Given the description of an element on the screen output the (x, y) to click on. 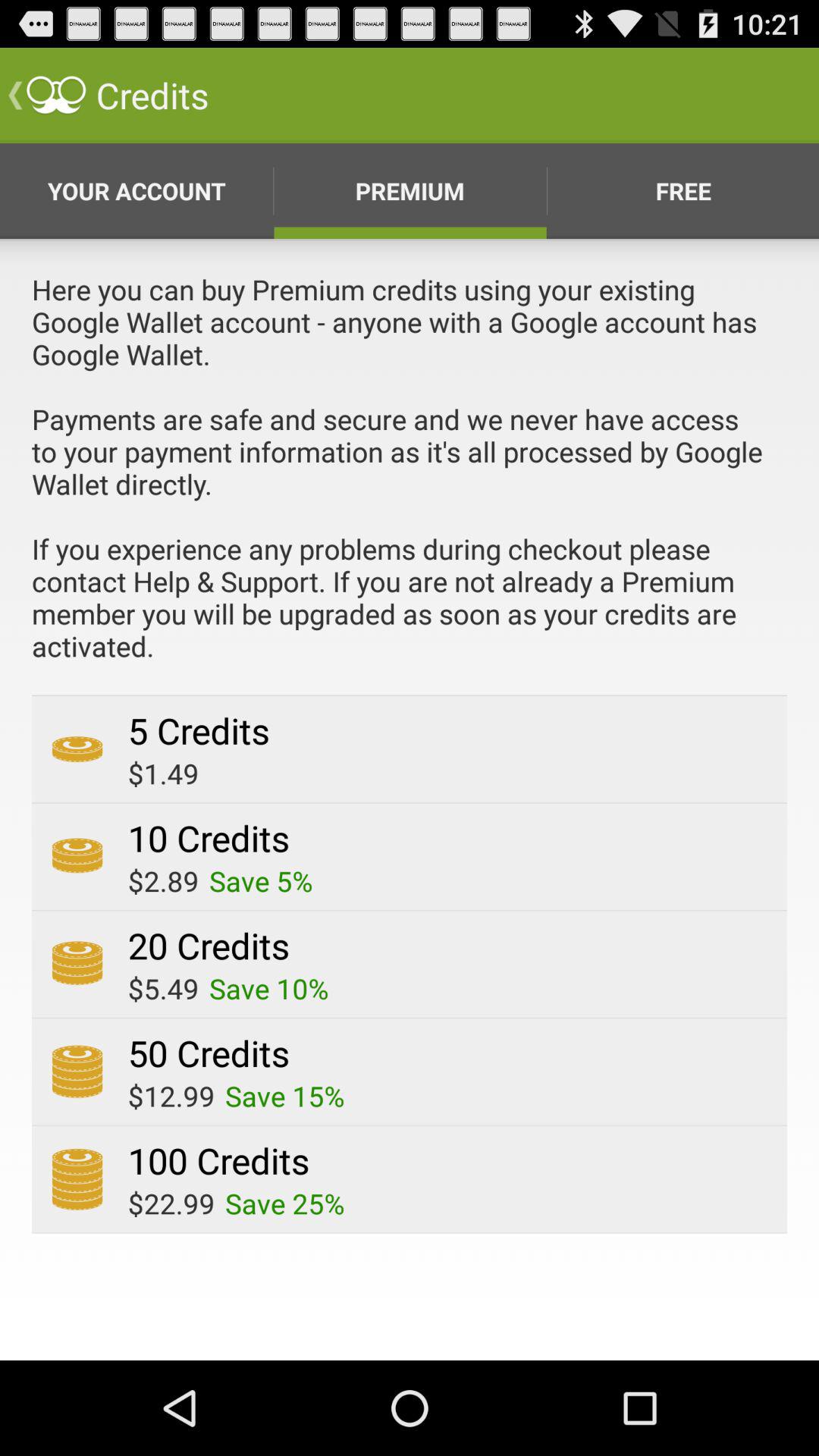
select the first option from the left side which is below the credits (136, 190)
click on the symbol which is beside credits (55, 95)
